Given the description of an element on the screen output the (x, y) to click on. 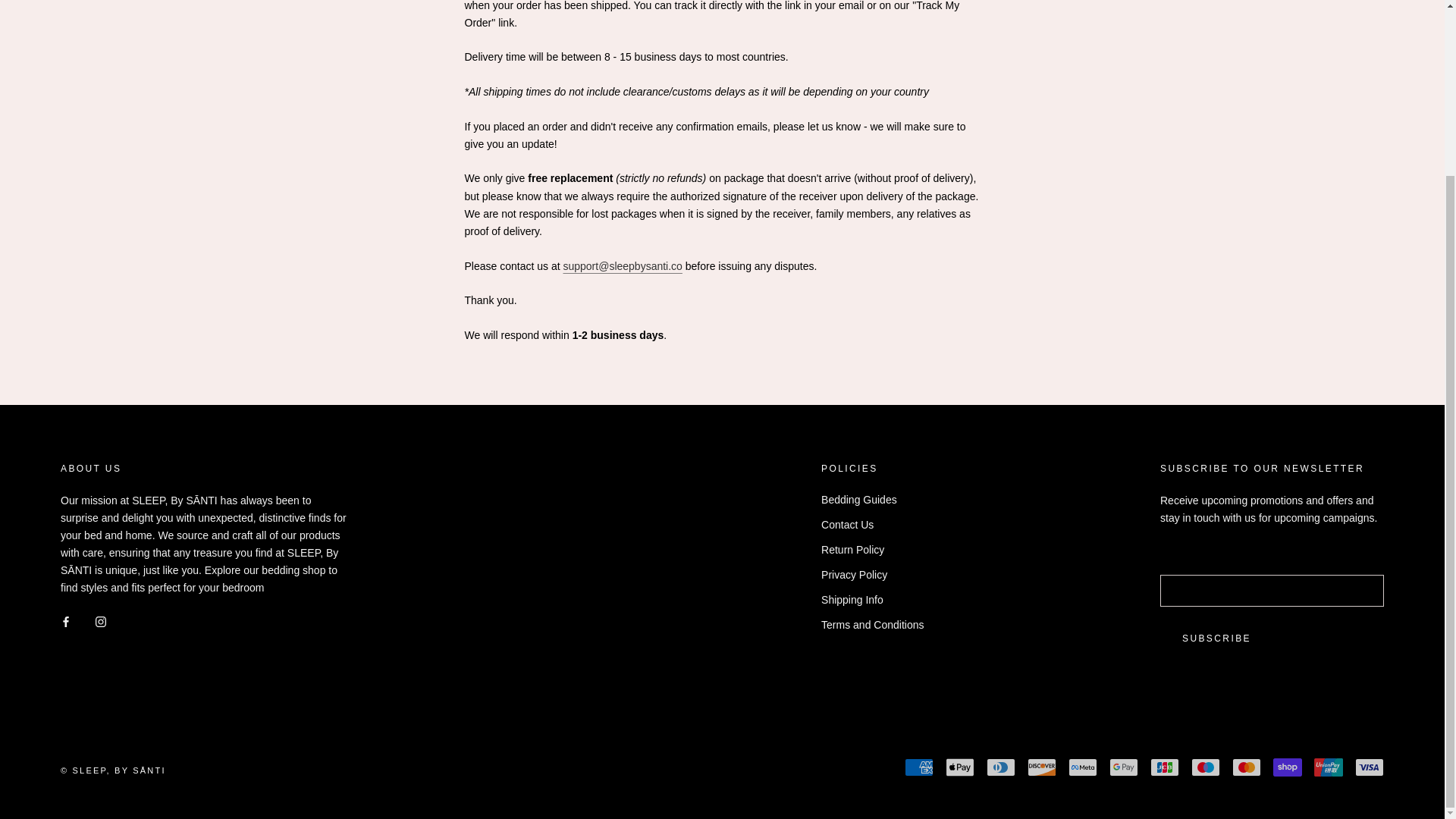
Visa (1369, 767)
Diners Club (1000, 767)
Bedding Guides (872, 499)
Contact Us (872, 524)
Discover (1042, 767)
Meta Pay (1082, 767)
Union Pay (1328, 767)
JCB (1164, 767)
American Express (918, 767)
Shop Pay (1286, 767)
Google Pay (1123, 767)
Apple Pay (959, 767)
Maestro (1205, 767)
Mastercard (1245, 767)
